Given the description of an element on the screen output the (x, y) to click on. 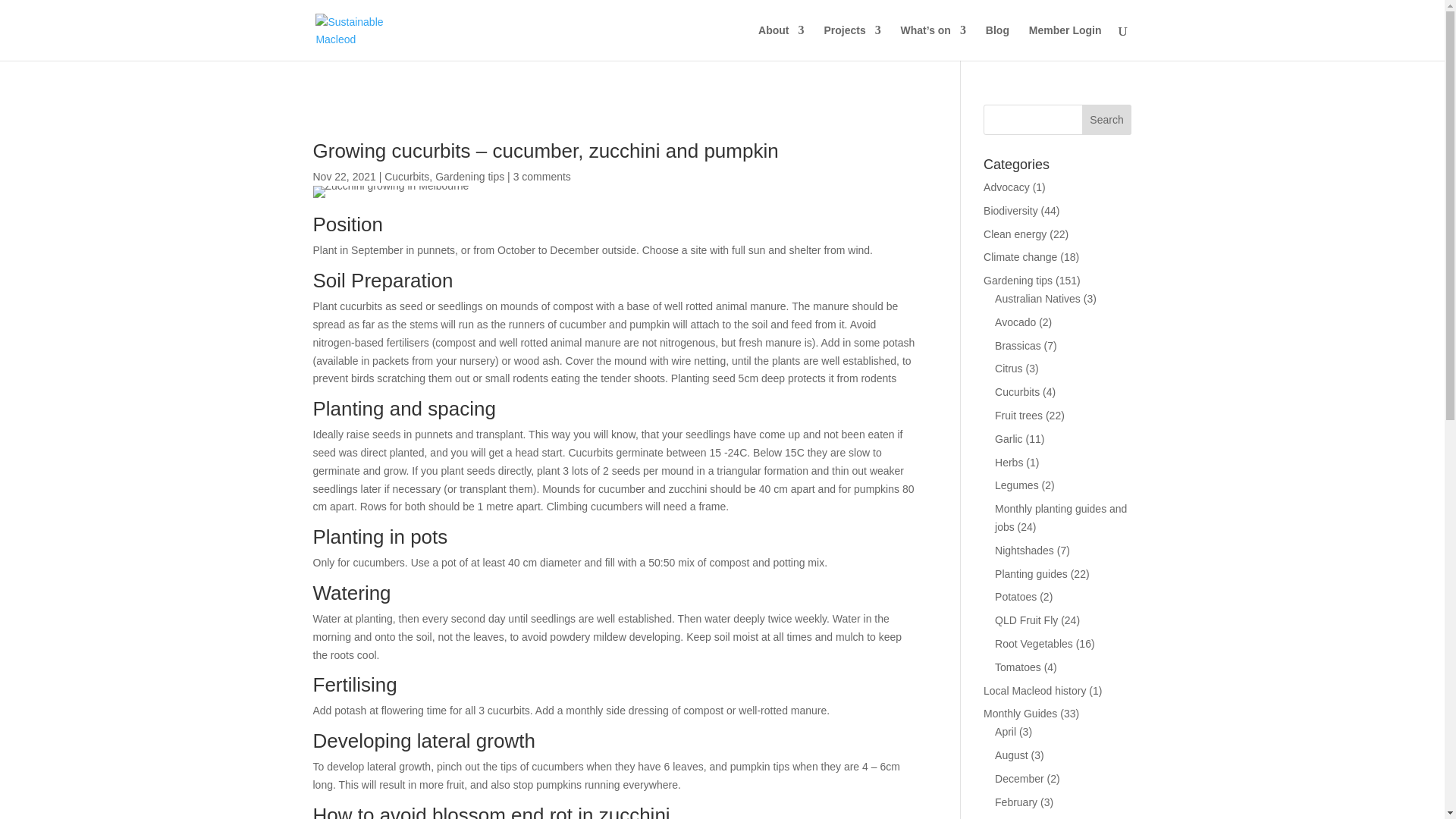
Clean energy (1015, 234)
Cucurbits (1016, 391)
Advocacy (1006, 186)
Search (1106, 119)
Potatoes (1015, 596)
Legumes (1016, 485)
Brassicas (1017, 345)
3 comments (541, 176)
Biodiversity (1011, 210)
Avocado (1014, 322)
Gardening tips (1018, 280)
About (780, 42)
Gardening tips (469, 176)
Fruit trees (1018, 415)
Citrus (1008, 368)
